Given the description of an element on the screen output the (x, y) to click on. 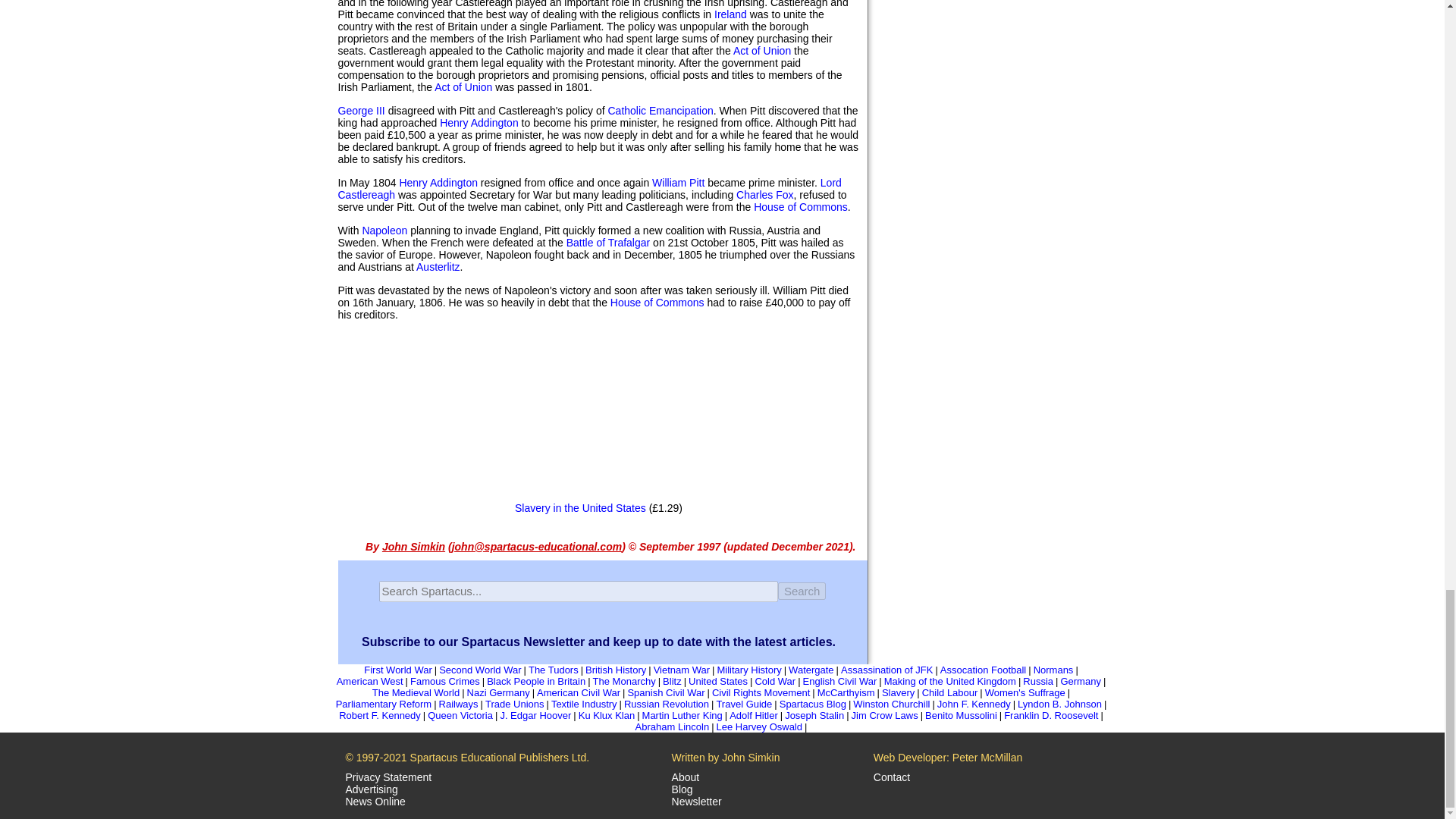
Search (802, 590)
